Given the description of an element on the screen output the (x, y) to click on. 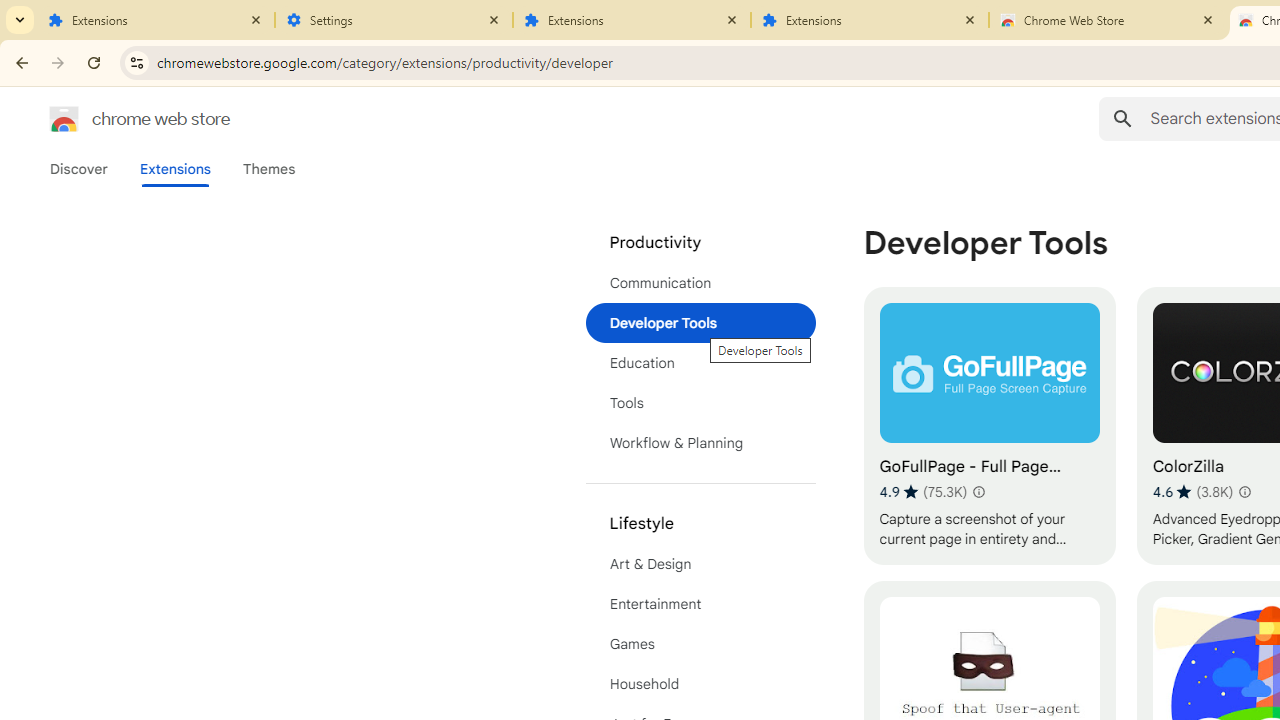
Household (700, 683)
Workflow & Planning (700, 442)
